Given the description of an element on the screen output the (x, y) to click on. 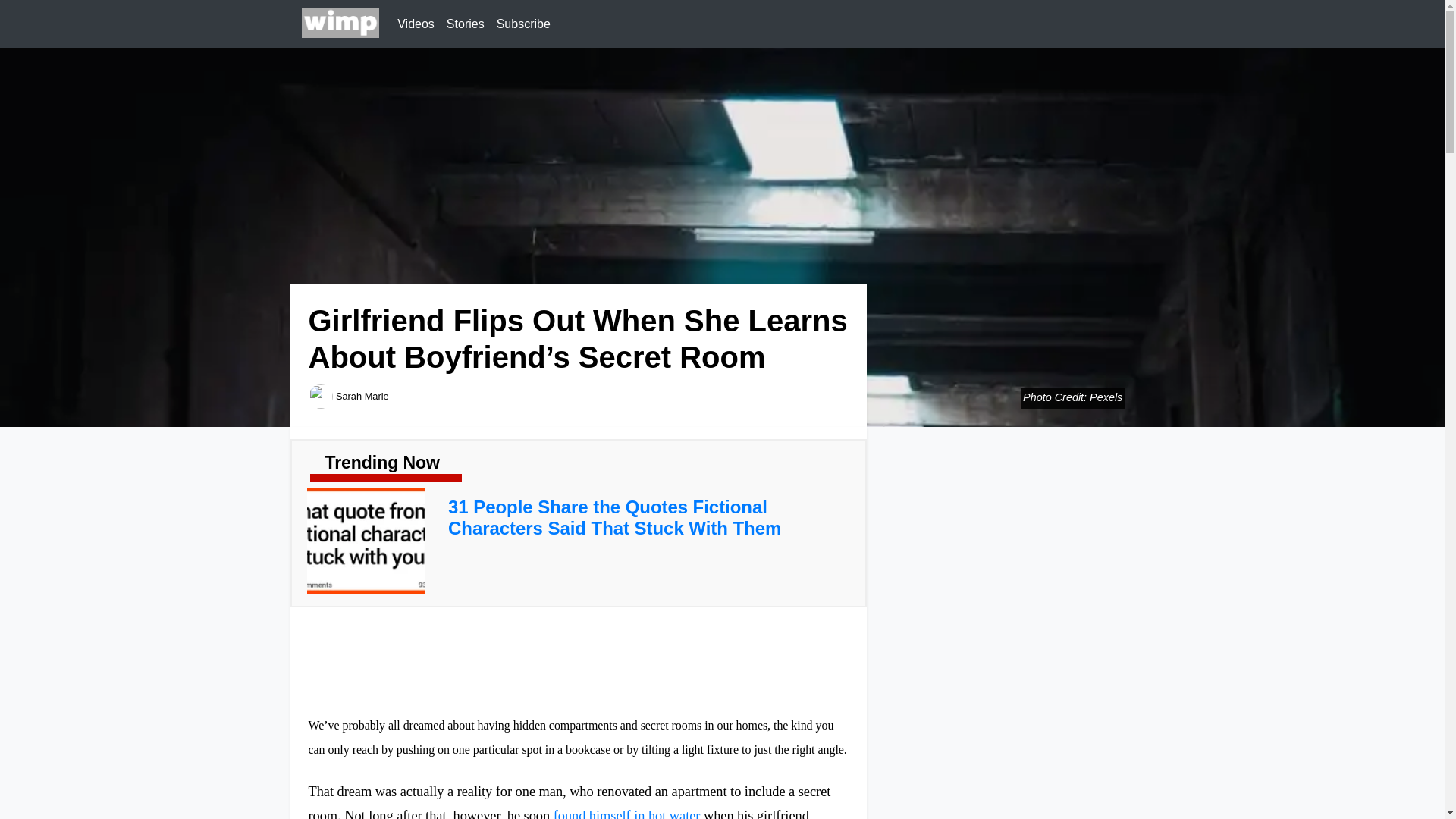
found himself in hot water (626, 813)
Wimp (340, 23)
Subscribe (523, 24)
Stories (465, 24)
Sarah Marie (362, 396)
Videos (416, 24)
Posts by Sarah Marie (362, 396)
